Given the description of an element on the screen output the (x, y) to click on. 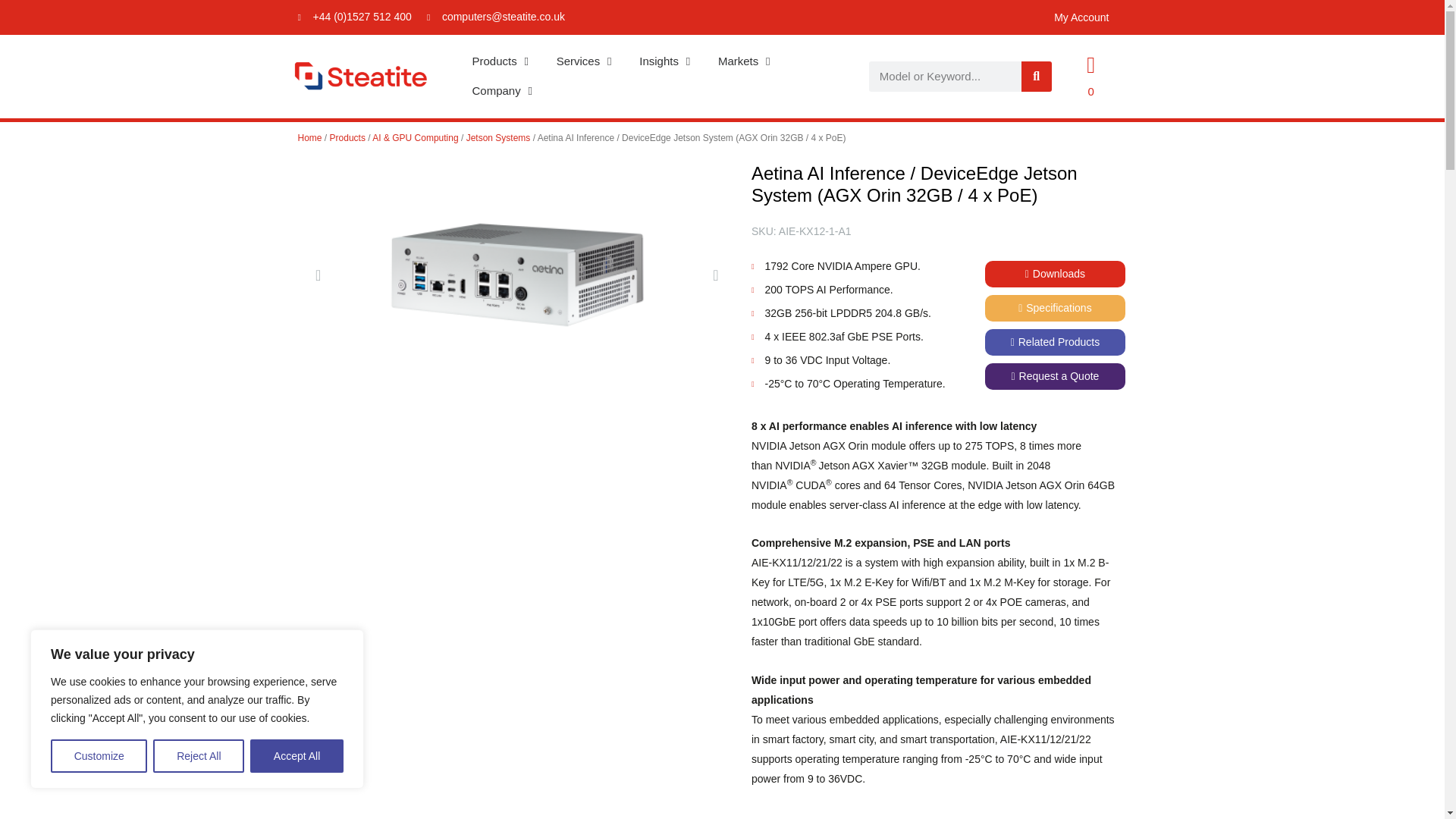
Chatbot (1383, 758)
My Account (1081, 17)
Customize (98, 756)
Accept All (296, 756)
Reject All (198, 756)
